Given the description of an element on the screen output the (x, y) to click on. 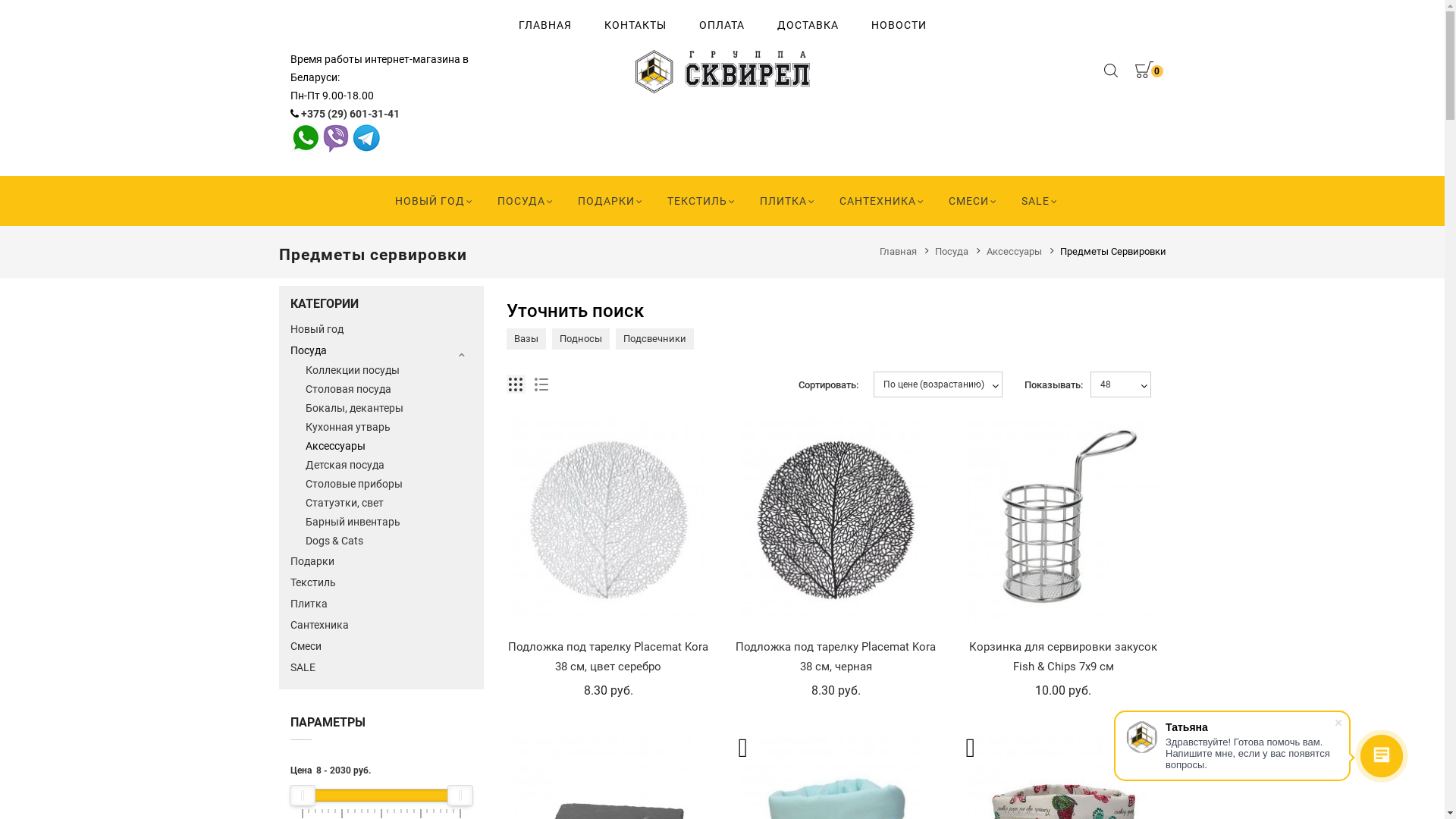
+375 (29) 601-31-41 Element type: text (349, 113)
  Element type: text (366, 136)
0 Element type: text (1142, 71)
Dogs & Cats Element type: text (387, 540)
SALE Element type: text (1035, 200)
SALE Element type: text (380, 666)
